Given the description of an element on the screen output the (x, y) to click on. 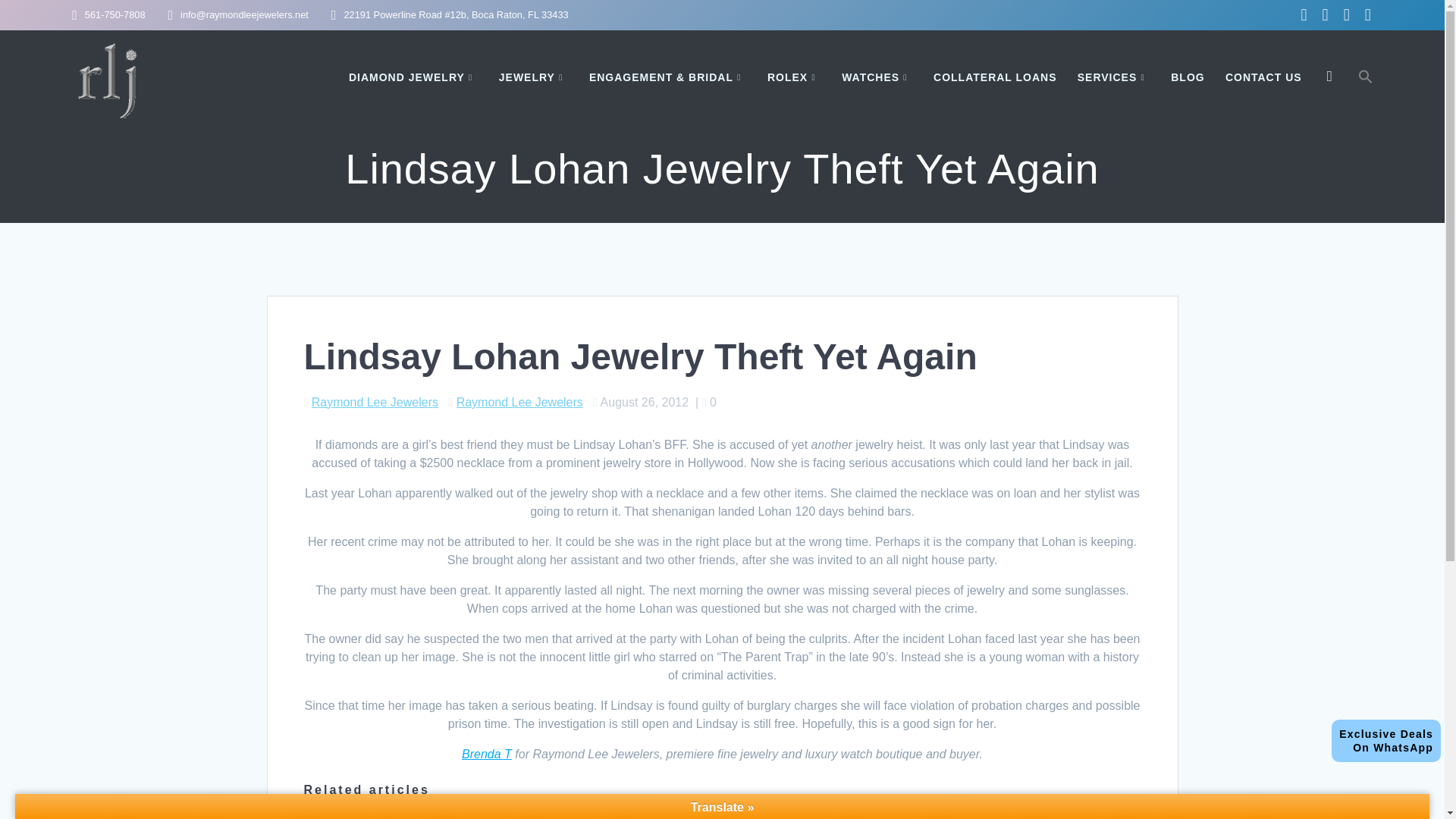
Posts by Raymond Lee Jewelers (1386, 740)
JEWELRY (374, 401)
DIAMOND JEWELRY (534, 77)
